Given the description of an element on the screen output the (x, y) to click on. 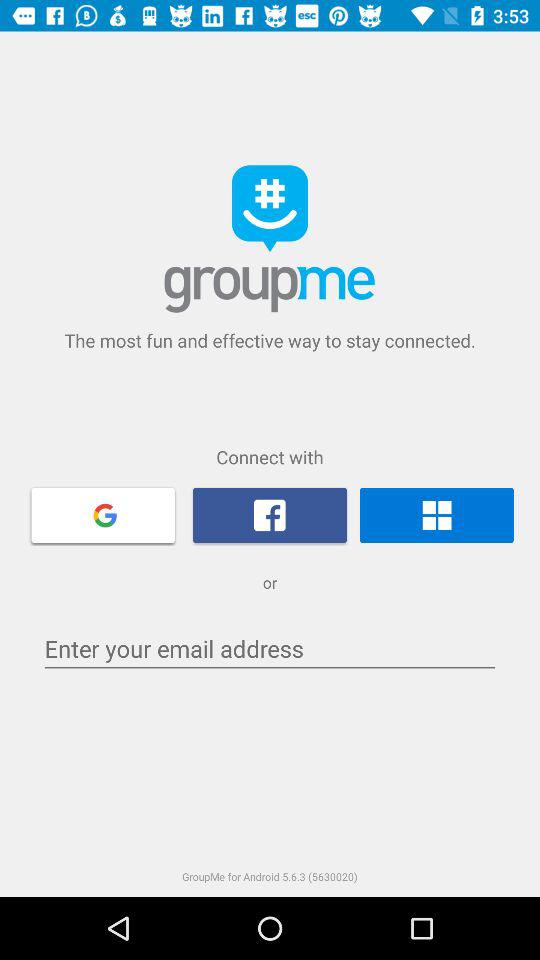
connect with facebook in order to access facebook contacts in app (269, 515)
